Given the description of an element on the screen output the (x, y) to click on. 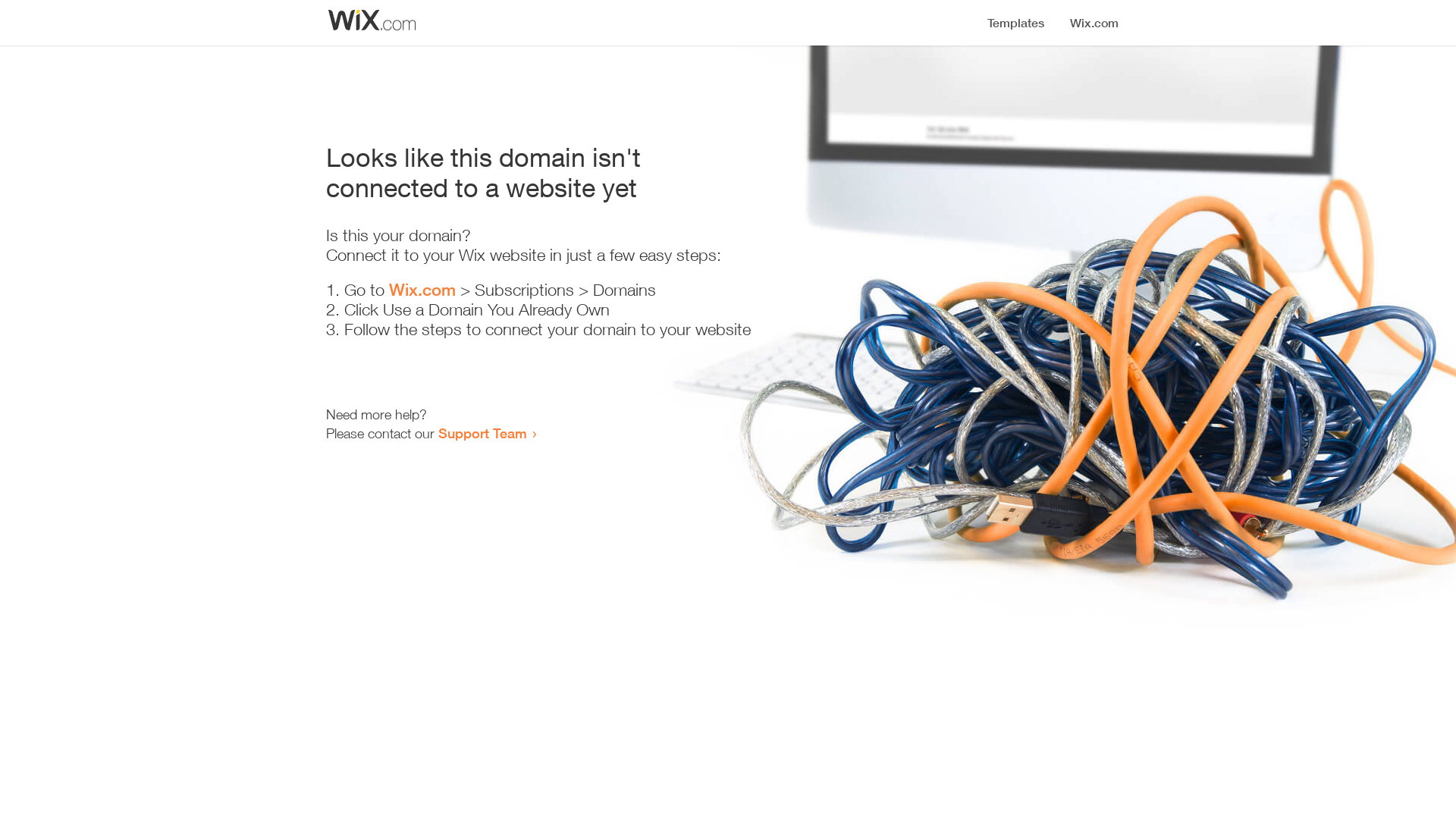
Wix.com Element type: text (422, 289)
Support Team Element type: text (482, 432)
